Given the description of an element on the screen output the (x, y) to click on. 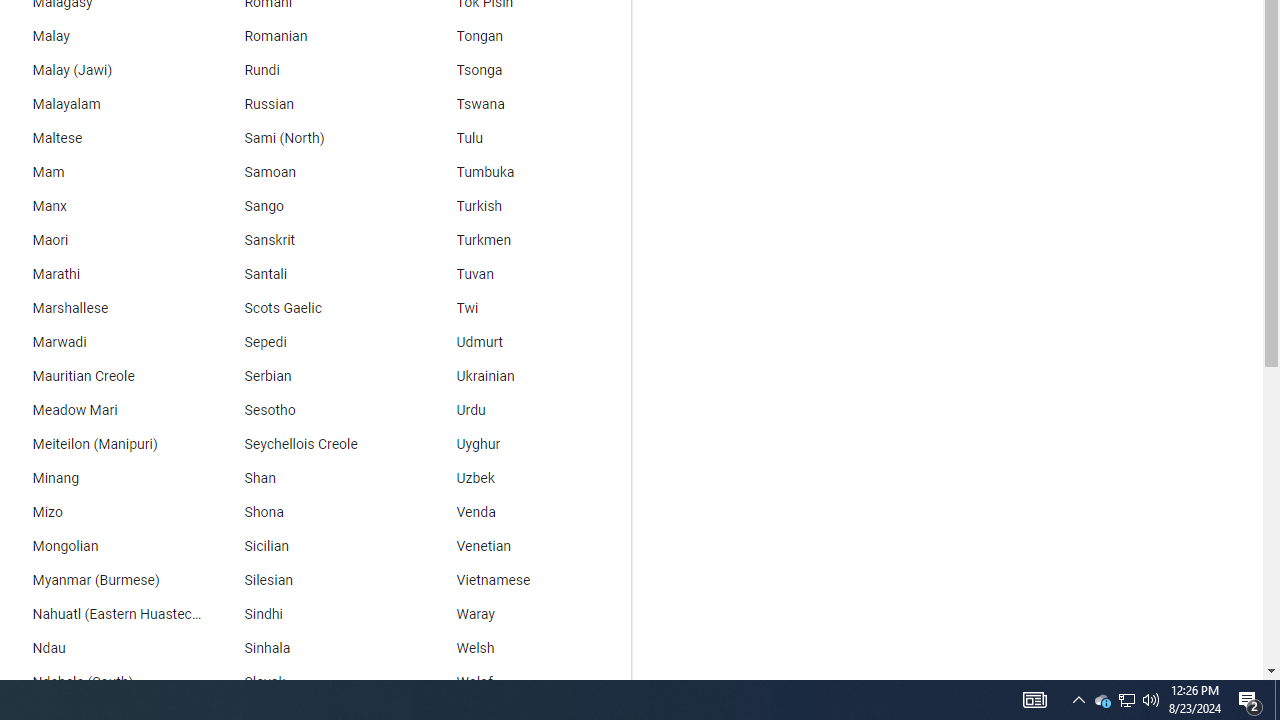
Ukrainian (525, 376)
Sanskrit (312, 240)
Wolof (525, 682)
Scots Gaelic (312, 308)
Shona (312, 512)
Sango (312, 206)
Twi (525, 308)
Venda (525, 512)
Uzbek (525, 478)
Tumbuka (525, 172)
Seychellois Creole (312, 444)
Slovak (312, 682)
Welsh (525, 648)
Waray (525, 614)
Turkmen (525, 240)
